Given the description of an element on the screen output the (x, y) to click on. 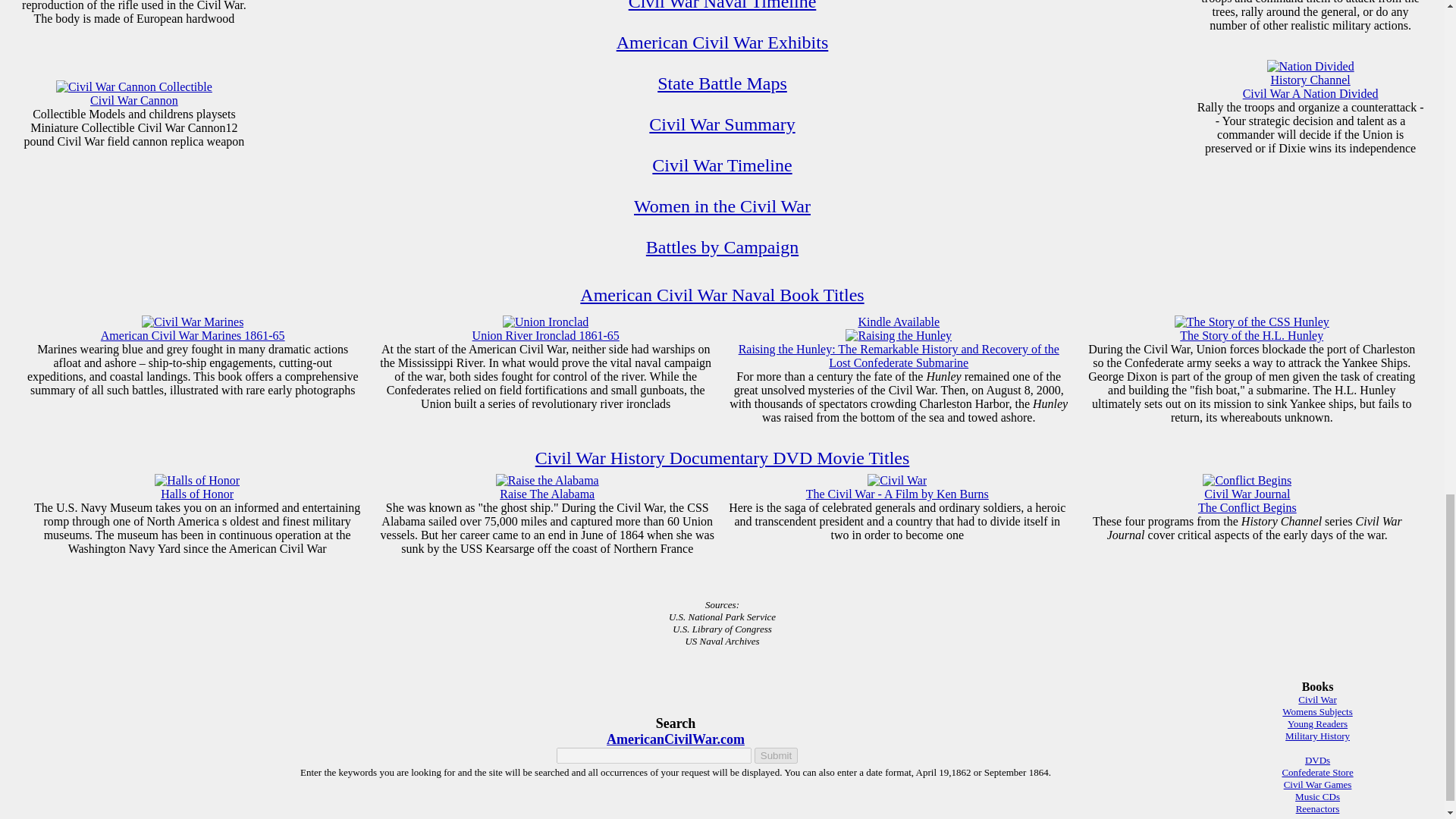
The Story of the H.L. Hunley (1251, 335)
American Civil War Exhibits (721, 42)
Civil War Summary (721, 124)
State Battle Maps (722, 83)
Civil War Cannon (133, 100)
Union River Ironclad 1861-65 (545, 335)
American Civil War Naval Book Titles (721, 294)
Submit (1310, 86)
Civil War History Documentary DVD Movie Titles (775, 755)
Civil War Timeline (722, 457)
Battles by Campaign (722, 165)
Civil War Naval Timeline (721, 247)
Kindle Available (722, 5)
